Given the description of an element on the screen output the (x, y) to click on. 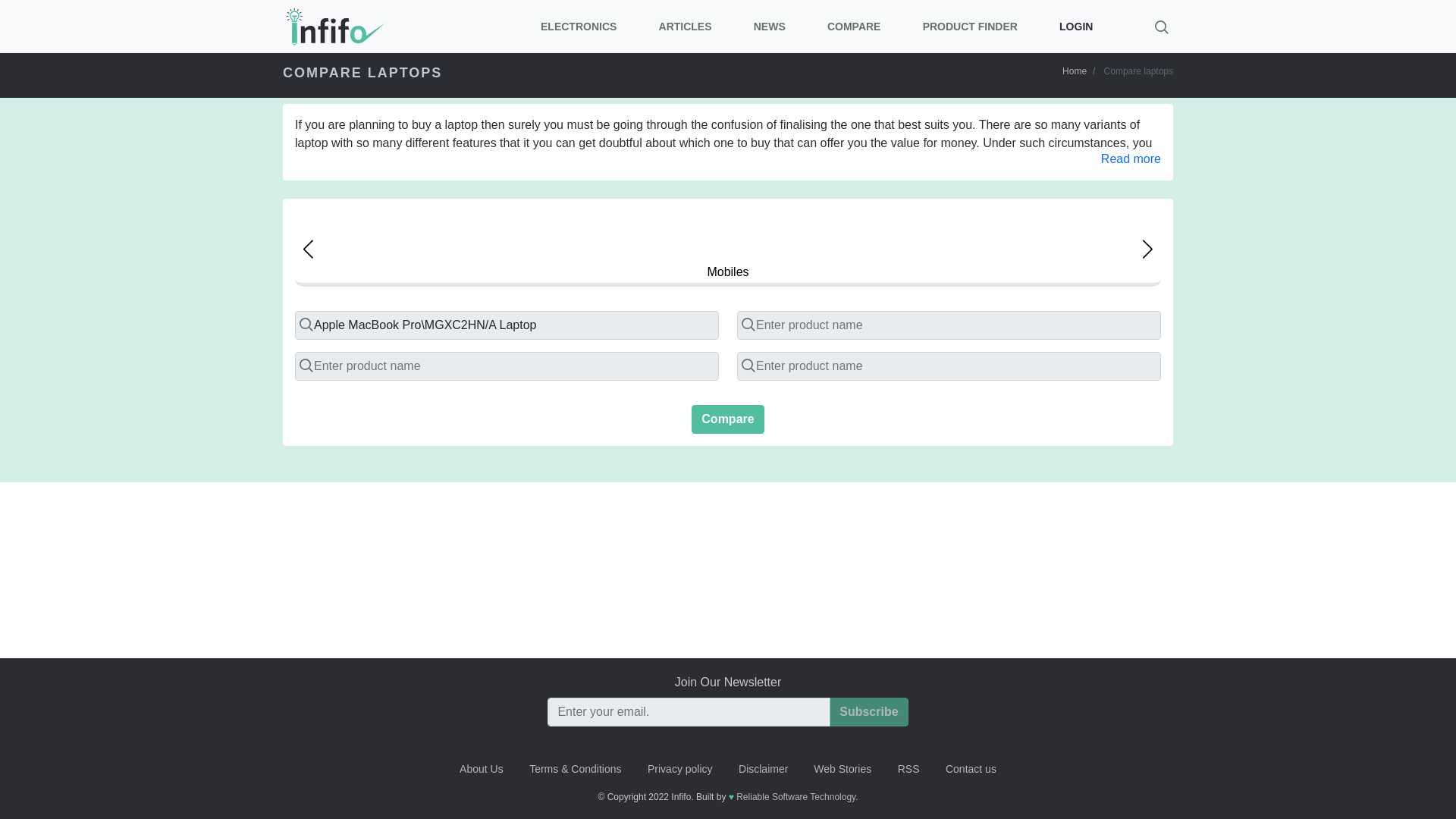
PRODUCT FINDER (969, 26)
ELECTRONICS (578, 26)
NEWS (769, 26)
ARTICLES (684, 26)
LOGIN (1075, 26)
COMPARE (853, 26)
